Given the description of an element on the screen output the (x, y) to click on. 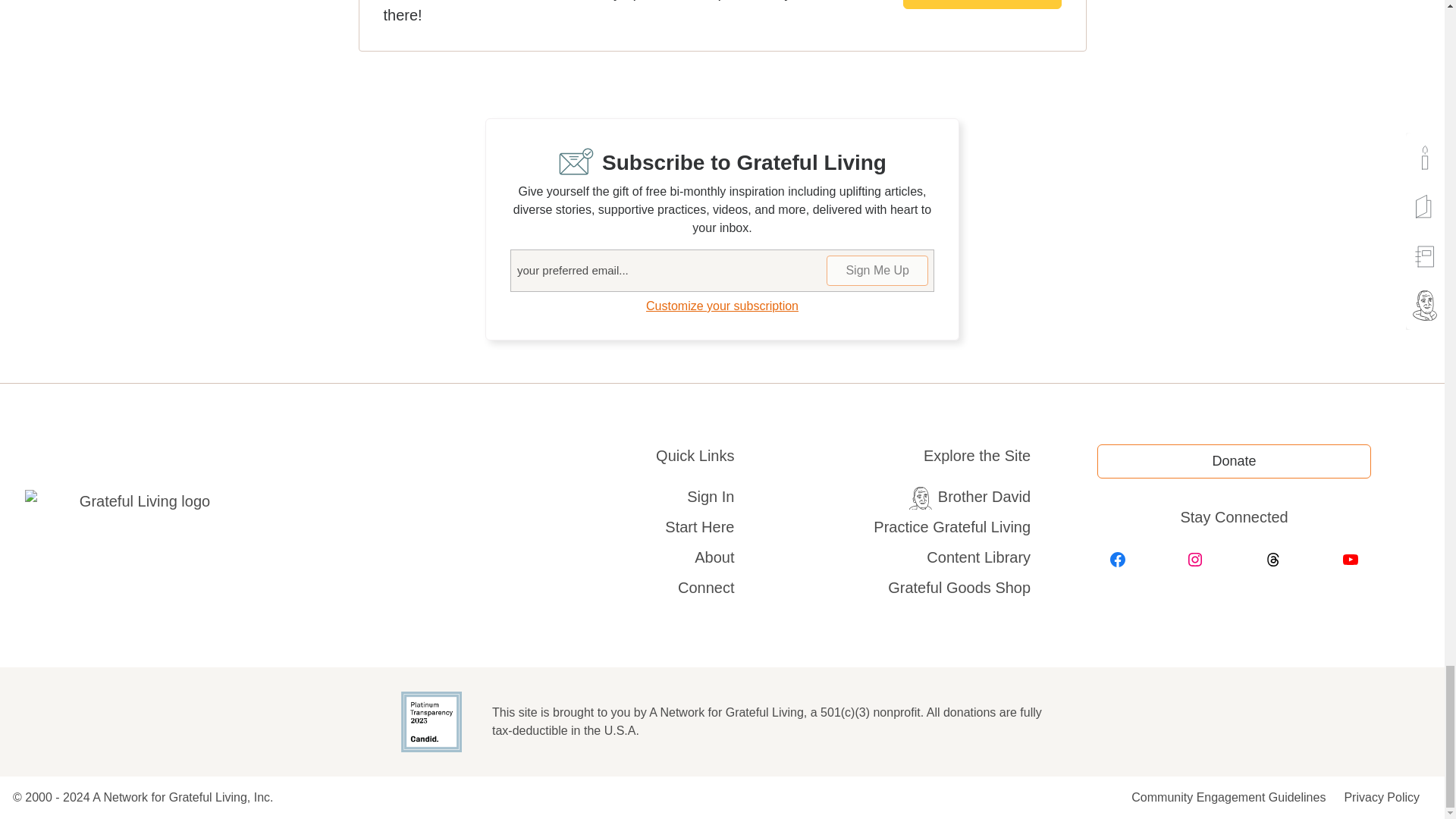
Sign Me Up (877, 270)
Sign Me Up (877, 270)
Join the Conversation (981, 4)
